Given the description of an element on the screen output the (x, y) to click on. 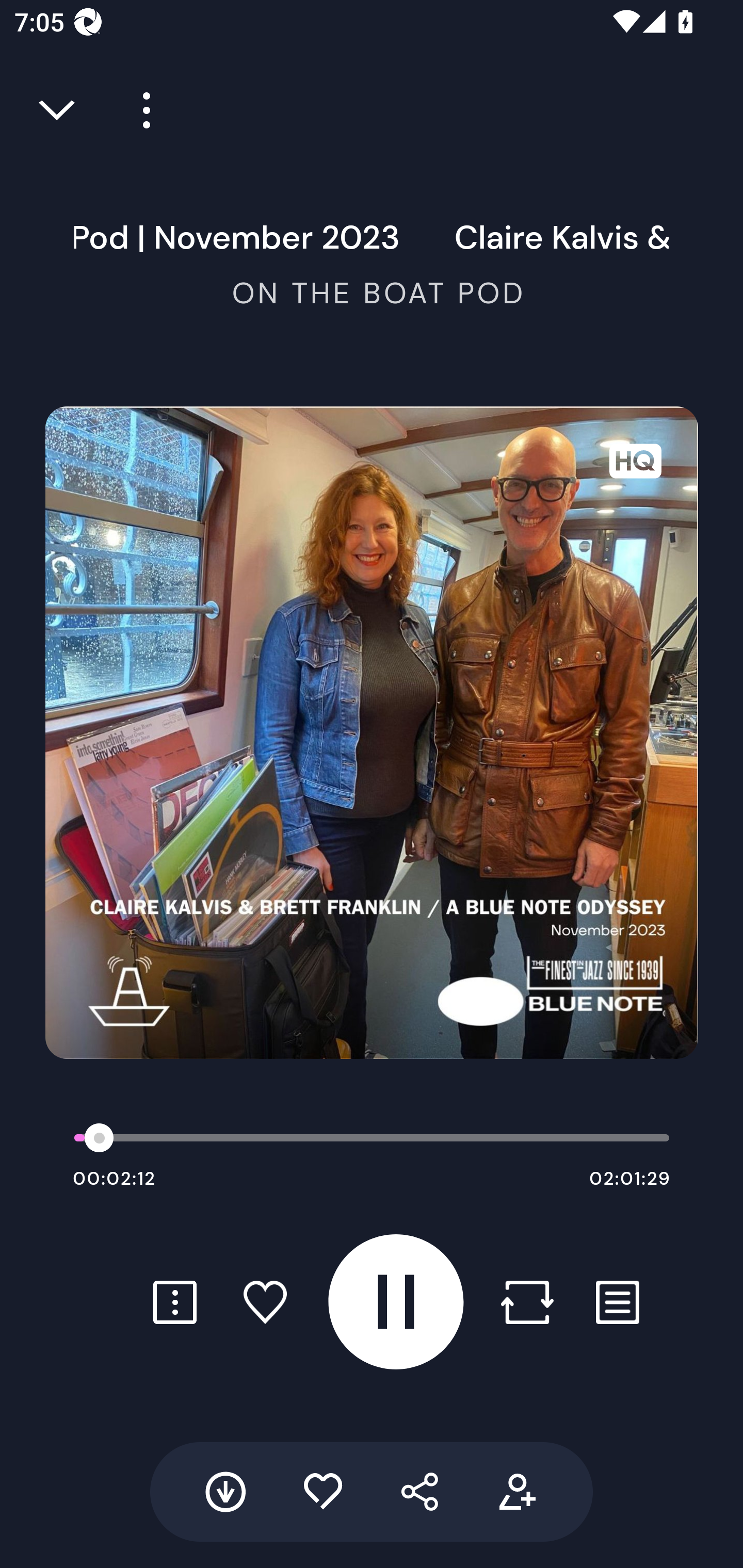
Close full player (58, 110)
Player more options button (139, 110)
Repost button (527, 1301)
